Given the description of an element on the screen output the (x, y) to click on. 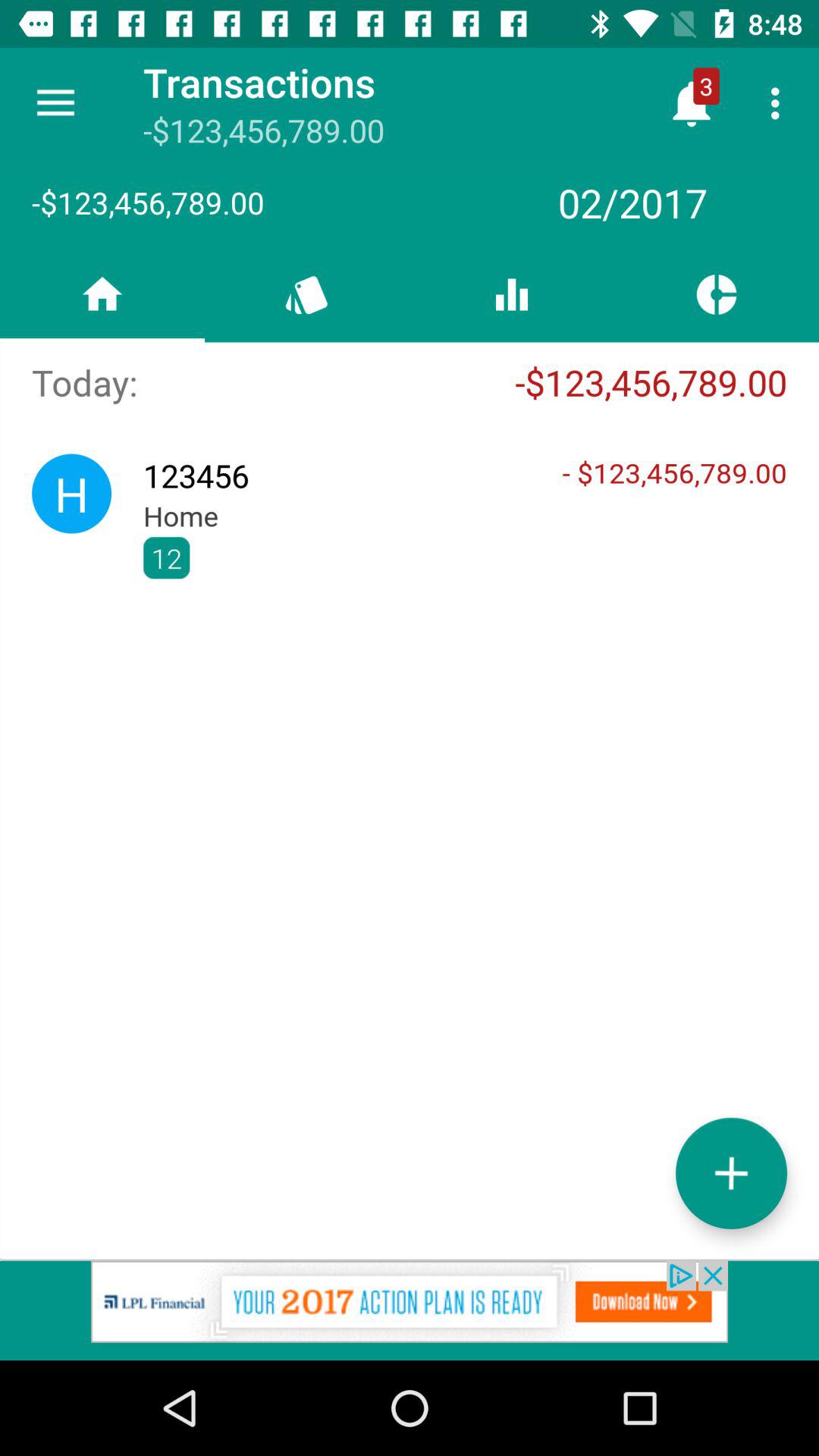
click icon next to h icon (465, 557)
